Given the description of an element on the screen output the (x, y) to click on. 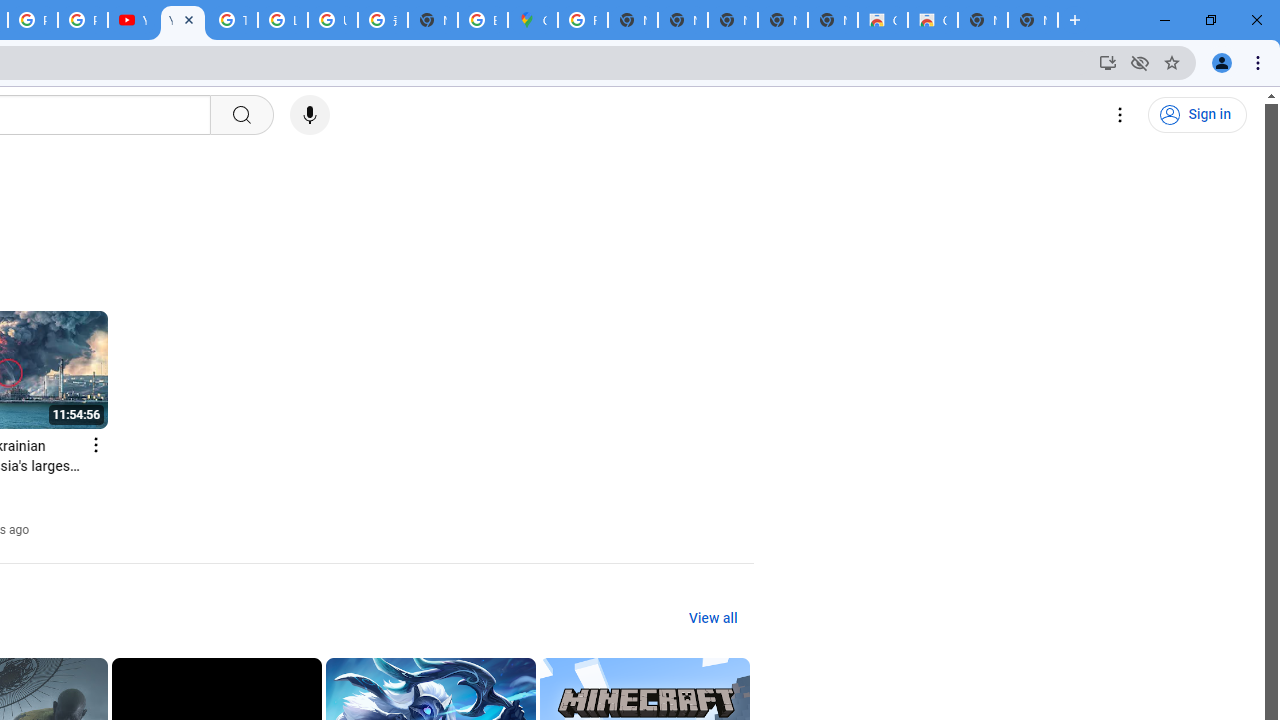
Classic Blue - Chrome Web Store (932, 20)
Tips & tricks for Chrome - Google Chrome Help (232, 20)
Search with your voice (309, 115)
Install YouTube (1107, 62)
YouTube (182, 20)
View all (712, 619)
New Tab (1032, 20)
YouTube (132, 20)
